Given the description of an element on the screen output the (x, y) to click on. 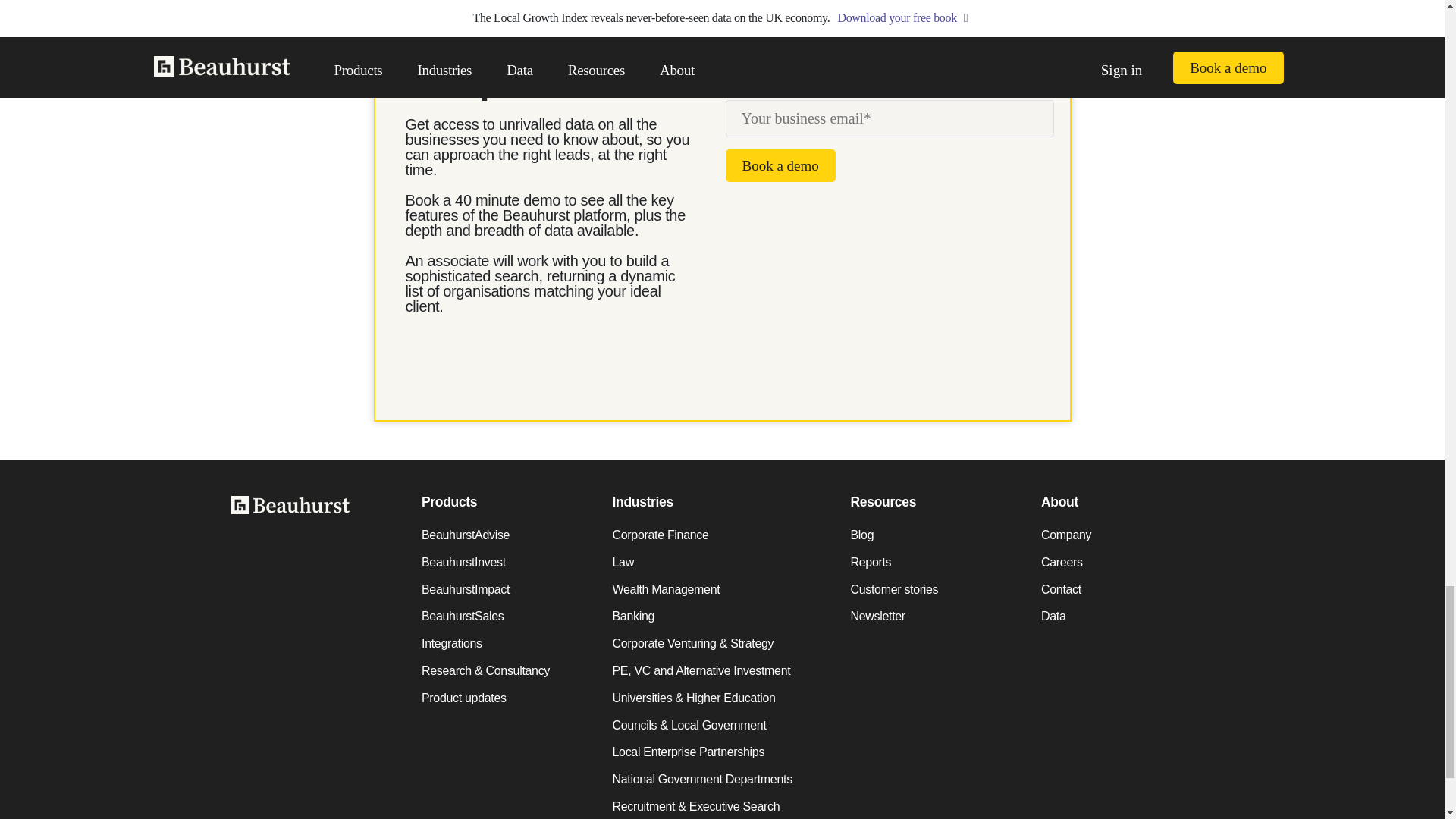
Book a demo (779, 165)
